Given the description of an element on the screen output the (x, y) to click on. 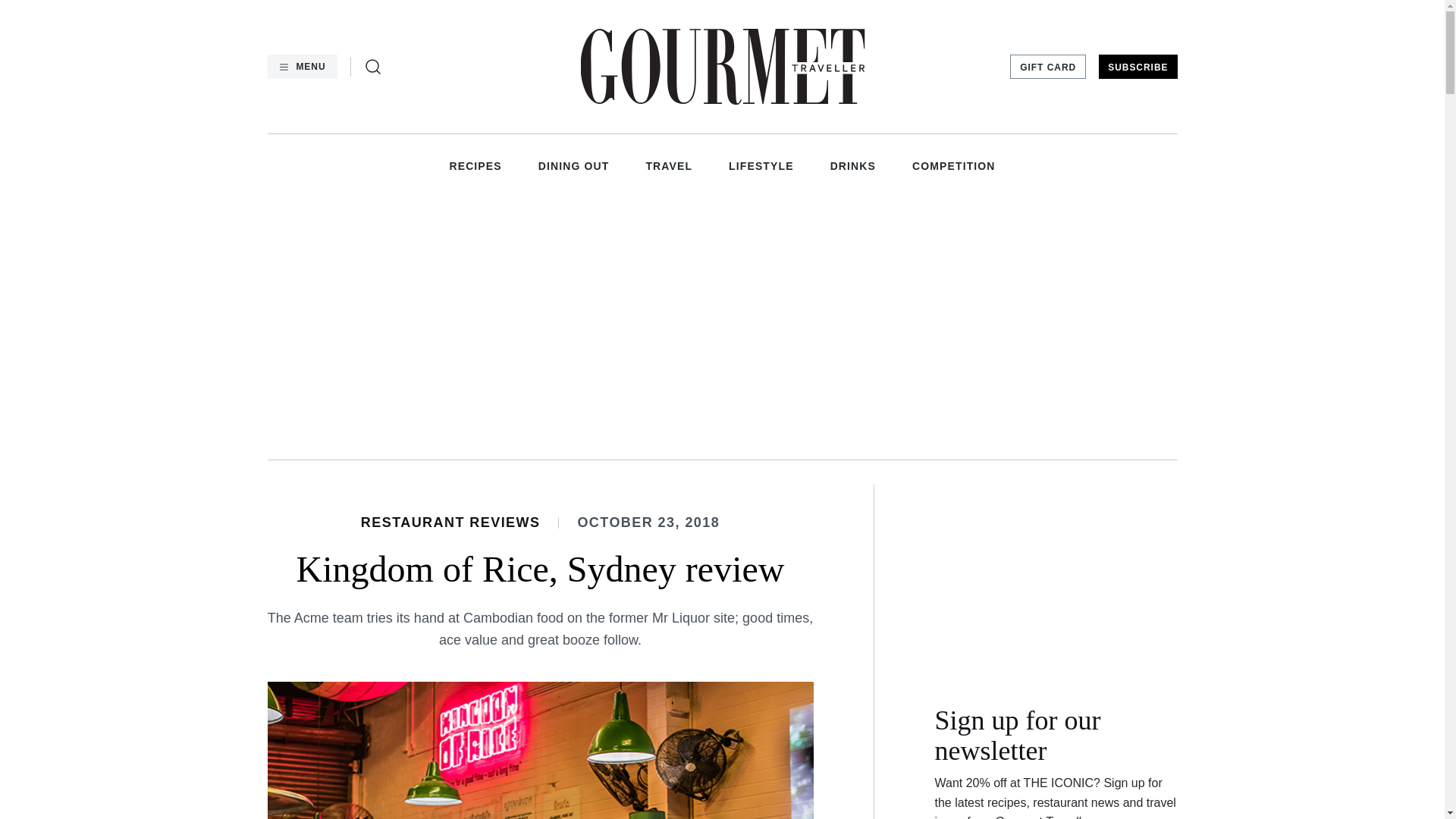
MENU (301, 66)
RECIPES (474, 165)
GIFT CARD (1048, 66)
DRINKS (852, 165)
TRAVEL (669, 165)
SUBSCRIBE (1137, 66)
COMPETITION (953, 165)
LIFESTYLE (761, 165)
DINING OUT (574, 165)
